Given the description of an element on the screen output the (x, y) to click on. 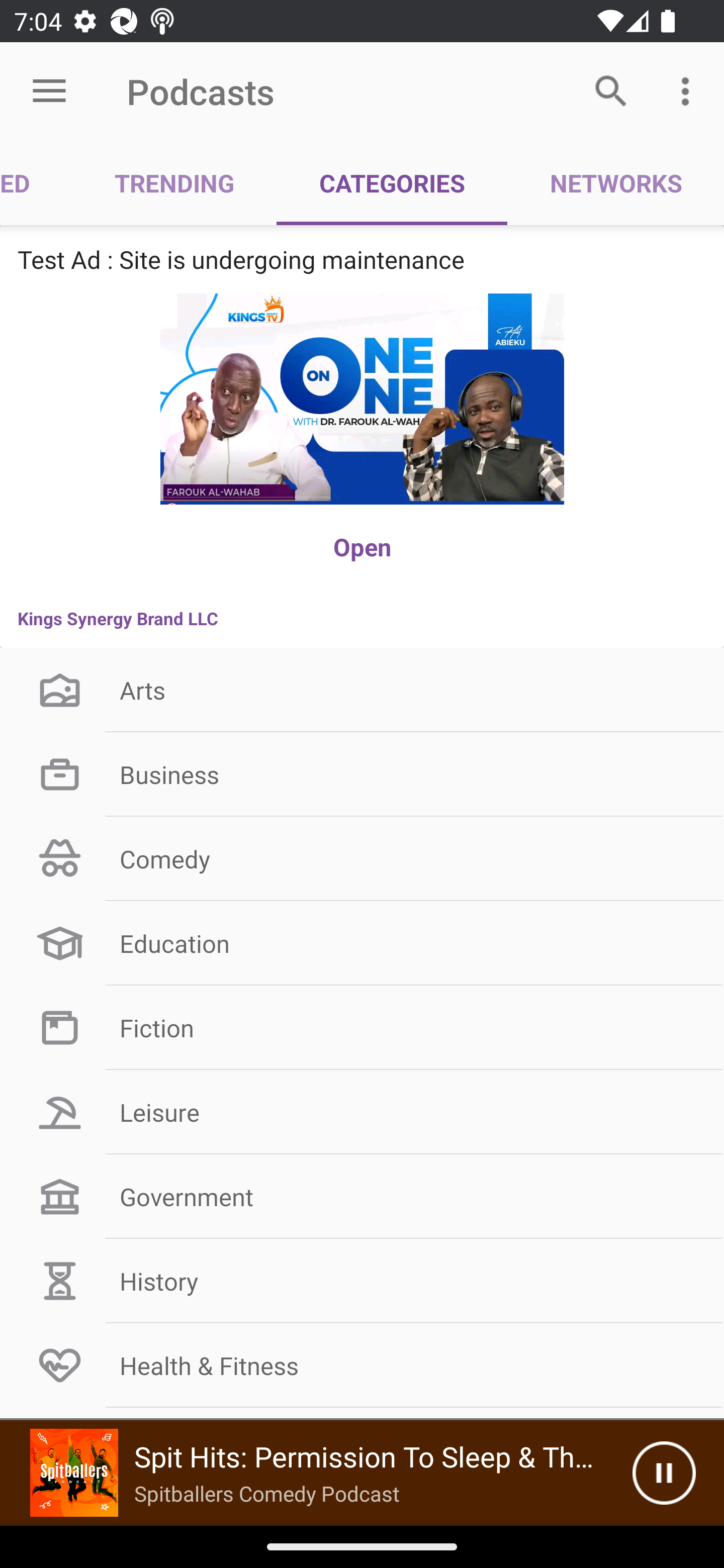
Open menu (49, 91)
Search (611, 90)
More options (688, 90)
TRENDING (174, 183)
CATEGORIES (391, 183)
NETWORKS (615, 183)
Test Ad : Site is undergoing maintenance (361, 259)
Open (362, 546)
Kings Synergy Brand LLC (361, 618)
Arts (362, 689)
Business (362, 774)
Comedy (362, 858)
Education (362, 943)
Fiction (362, 1027)
Leisure (362, 1111)
Government (362, 1196)
History (362, 1280)
Health & Fitness (362, 1365)
Pause (663, 1472)
